Given the description of an element on the screen output the (x, y) to click on. 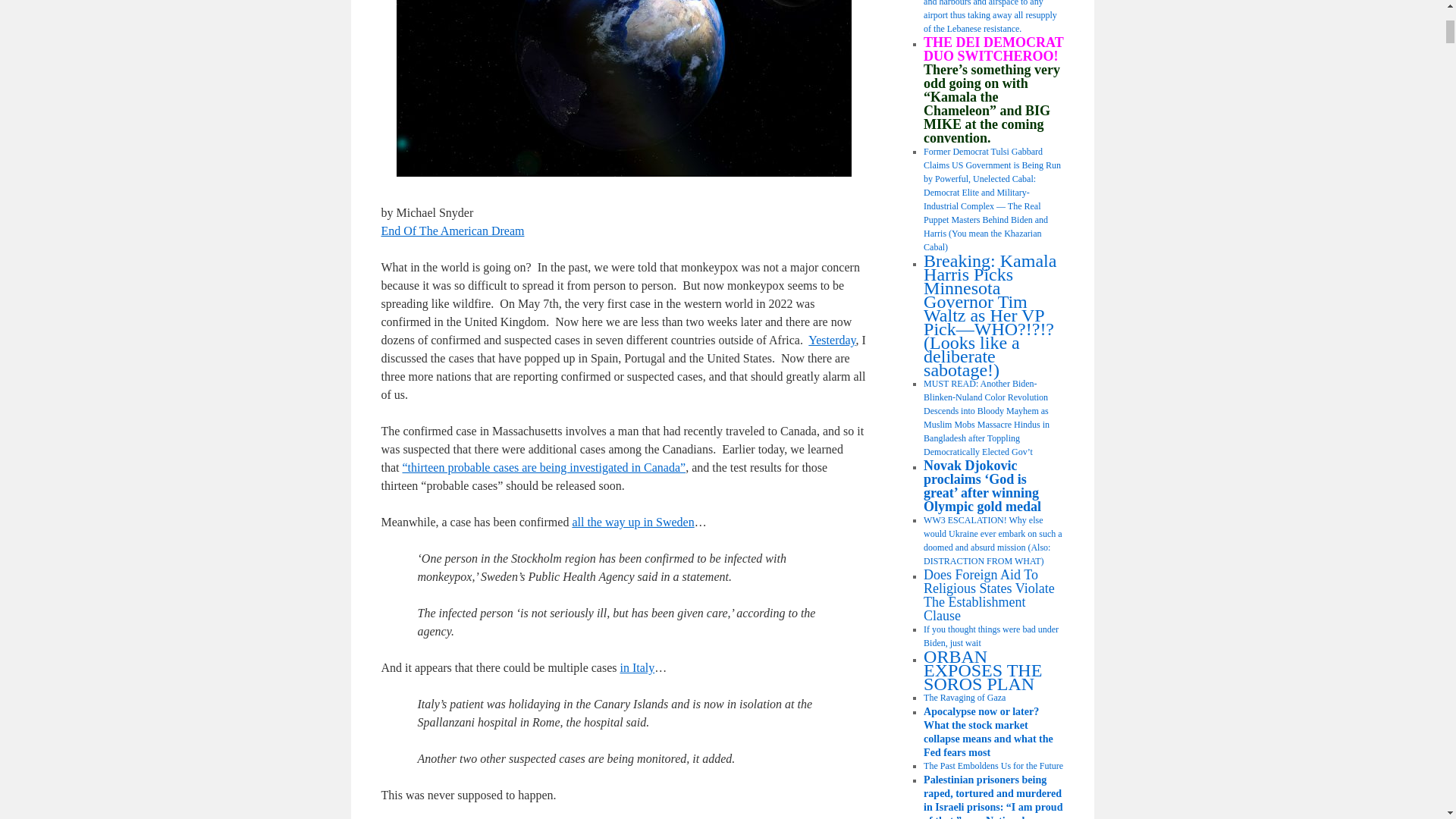
all the way up in Sweden (633, 521)
Yesterday (832, 339)
in Italy (637, 667)
 End Of The American Dream  (452, 230)
